Given the description of an element on the screen output the (x, y) to click on. 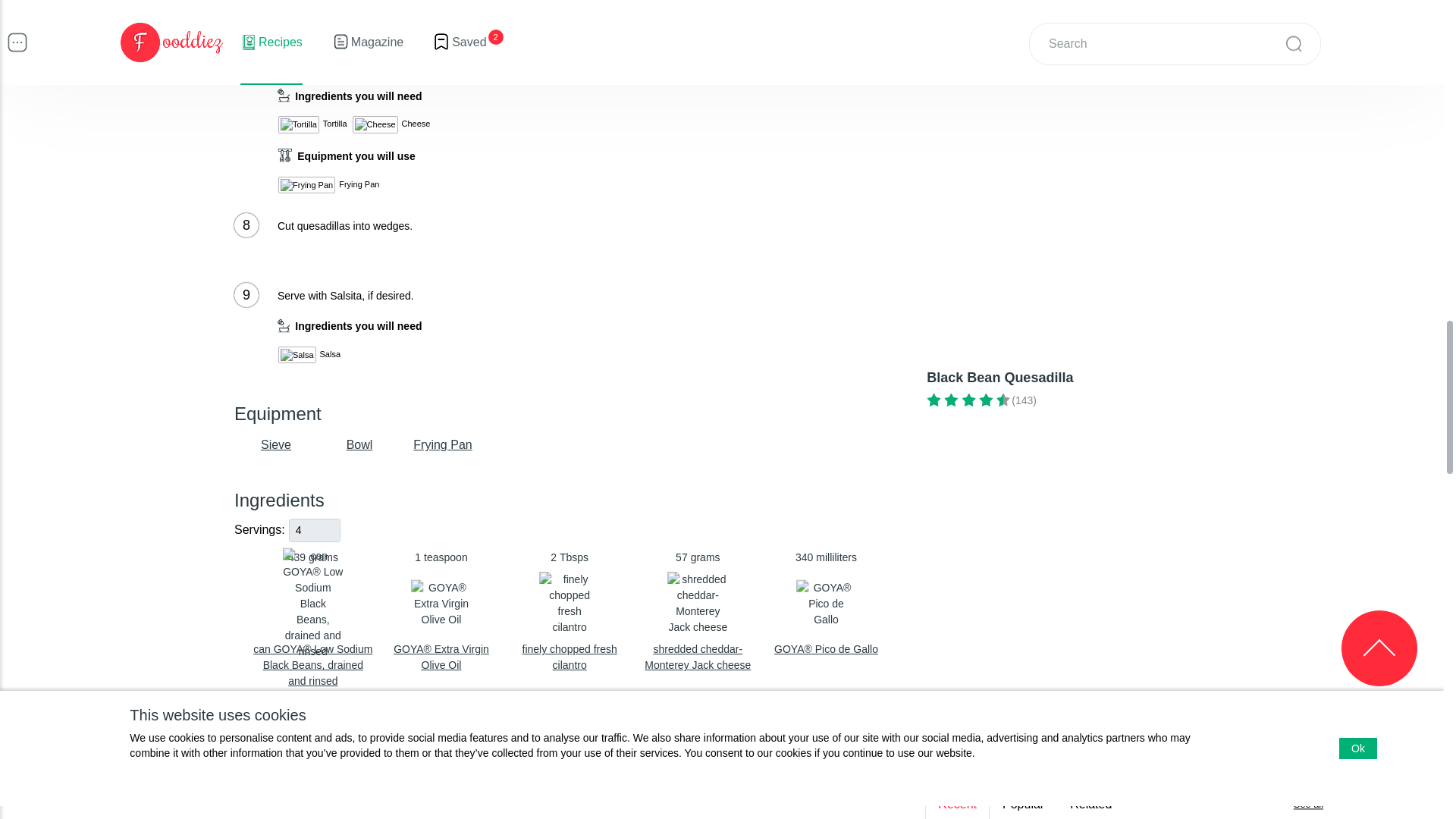
4 (314, 530)
Sieve (697, 611)
Frying Pan (275, 444)
Bowl (569, 611)
